Given the description of an element on the screen output the (x, y) to click on. 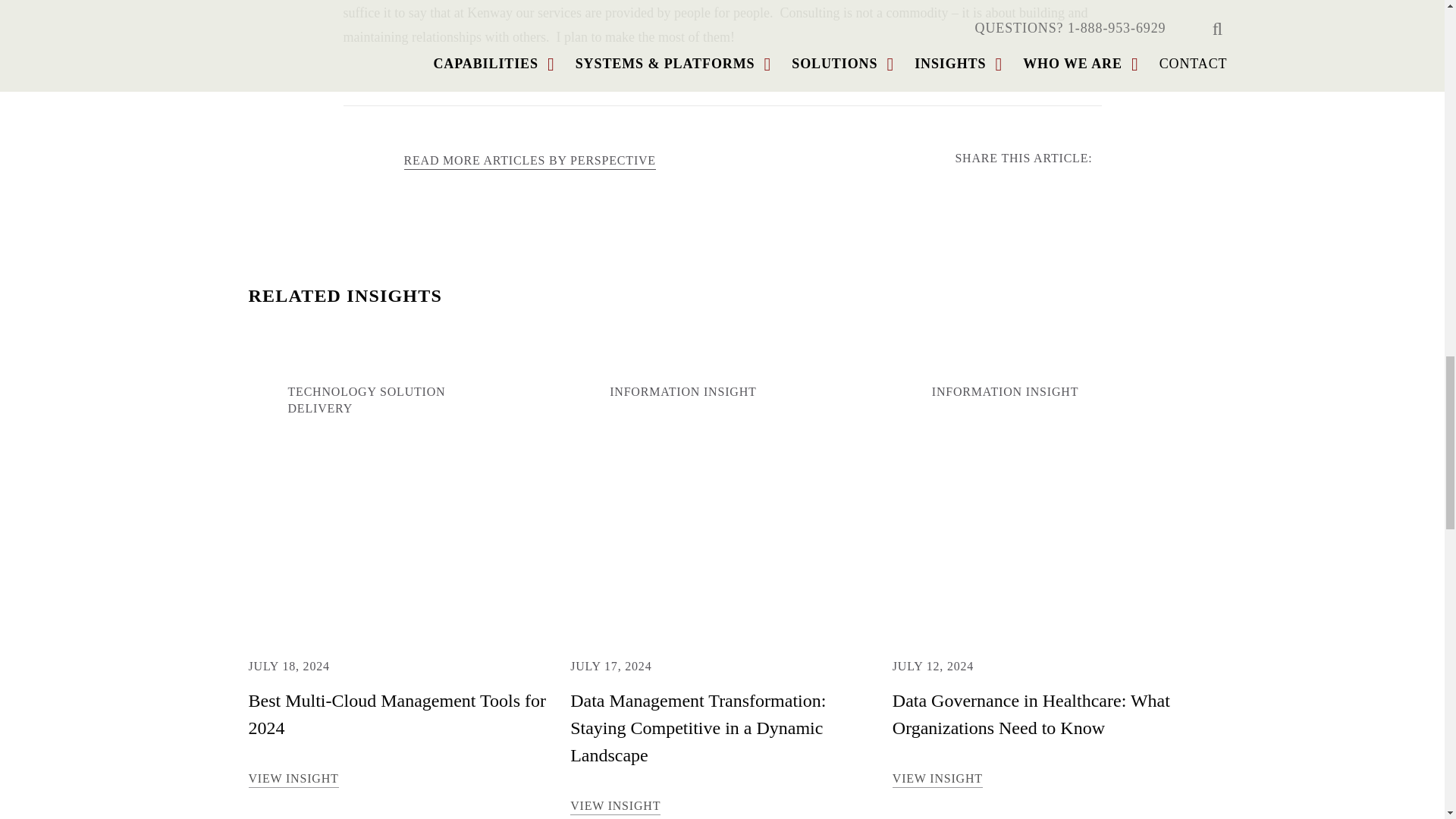
READ MORE ARTICLES BY PERSPECTIVE (529, 161)
